Given the description of an element on the screen output the (x, y) to click on. 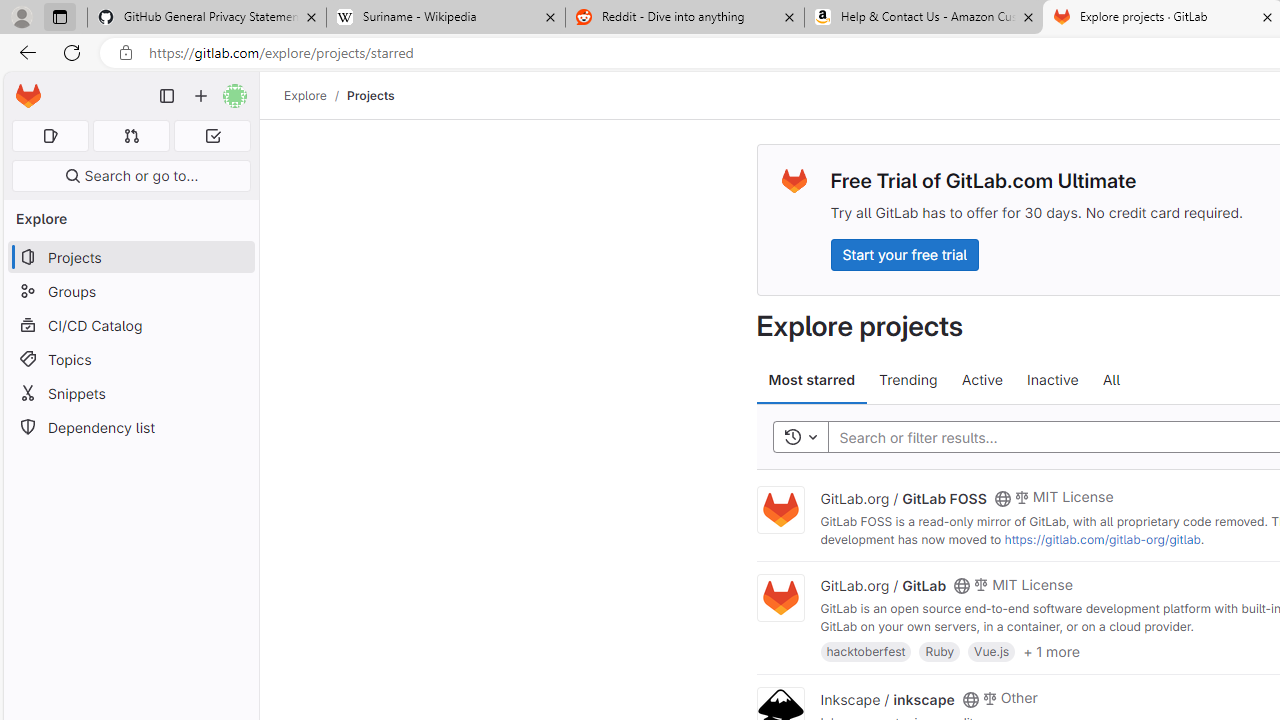
Snippets (130, 393)
CI/CD Catalog (130, 325)
Active (982, 379)
